Given the description of an element on the screen output the (x, y) to click on. 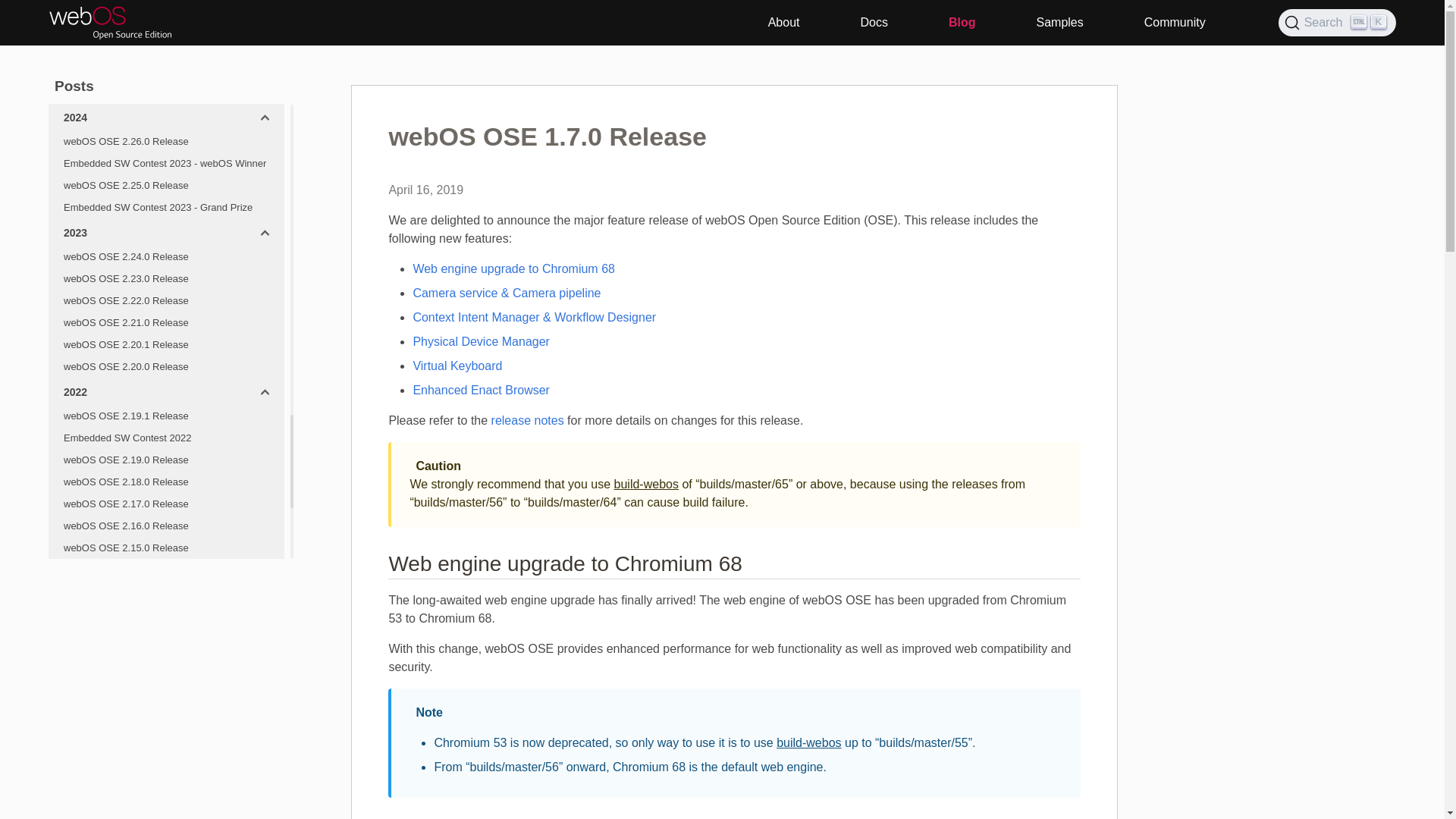
webOS OSE 2.20.1 Release (165, 344)
2023 (165, 231)
webOS OSE 2.23.0 Release (165, 279)
webOS OSE 2.25.0 Release (165, 185)
webOS OSE 2.21.0 Release (165, 323)
Docs (873, 22)
webOS OSE 2.17.0 Release (165, 504)
webOS OSE 2.13.1 Release (165, 685)
webOS OSE 2.19.1 Release (165, 415)
webOS OSE 2.24.0 Release (165, 256)
